Given the description of an element on the screen output the (x, y) to click on. 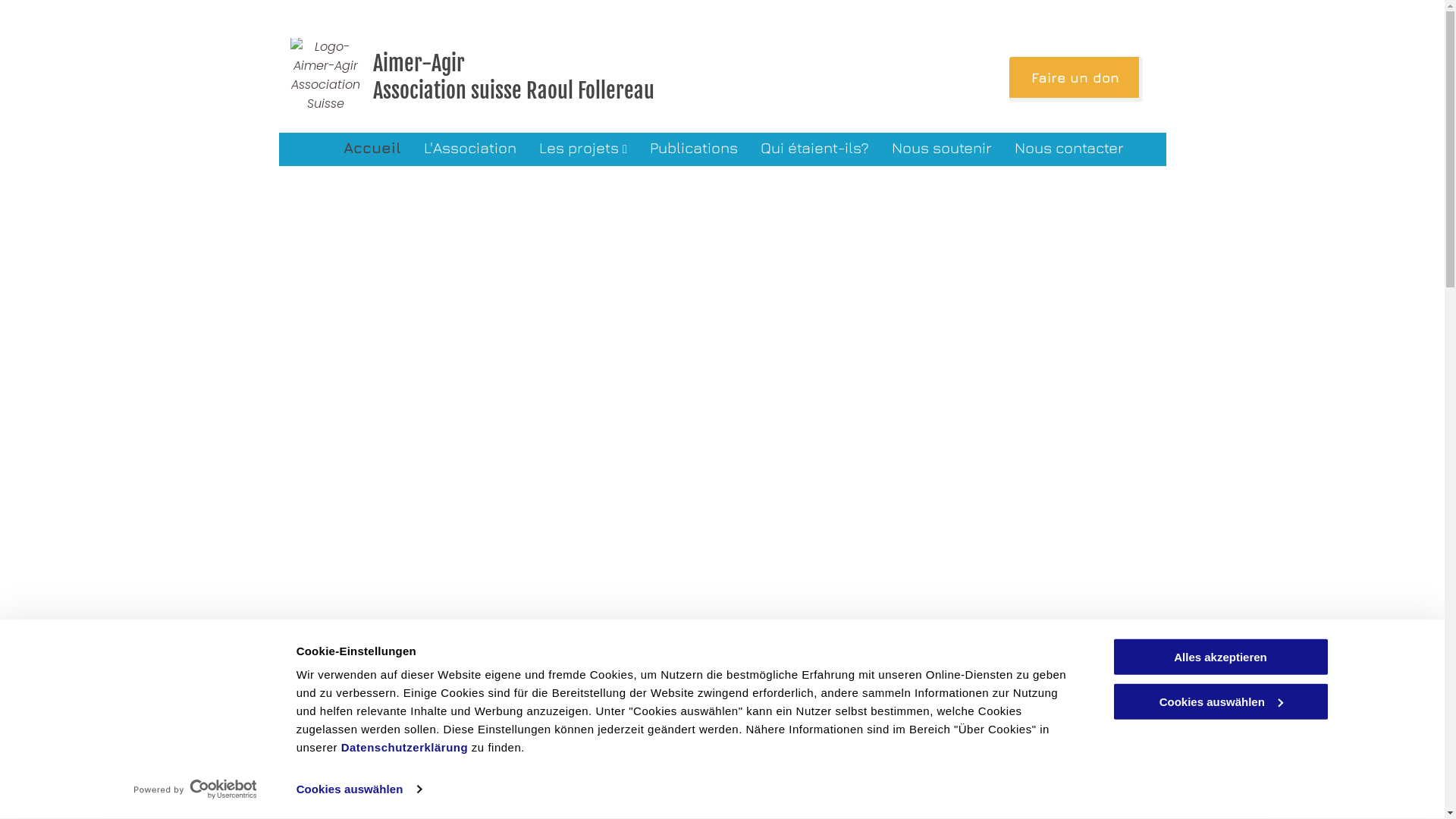
Accueil Element type: text (372, 147)
Faire un don Element type: text (1075, 78)
Les projets Element type: text (583, 147)
Association suisse Raoul Follereau Element type: text (513, 90)
L'Association Element type: text (469, 147)
Nous soutenir Element type: text (941, 147)
Alles akzeptieren Element type: text (1219, 656)
Aimer-Agir Element type: text (418, 63)
Publications Element type: text (693, 147)
Nous contacter Element type: text (1068, 147)
